Given the description of an element on the screen output the (x, y) to click on. 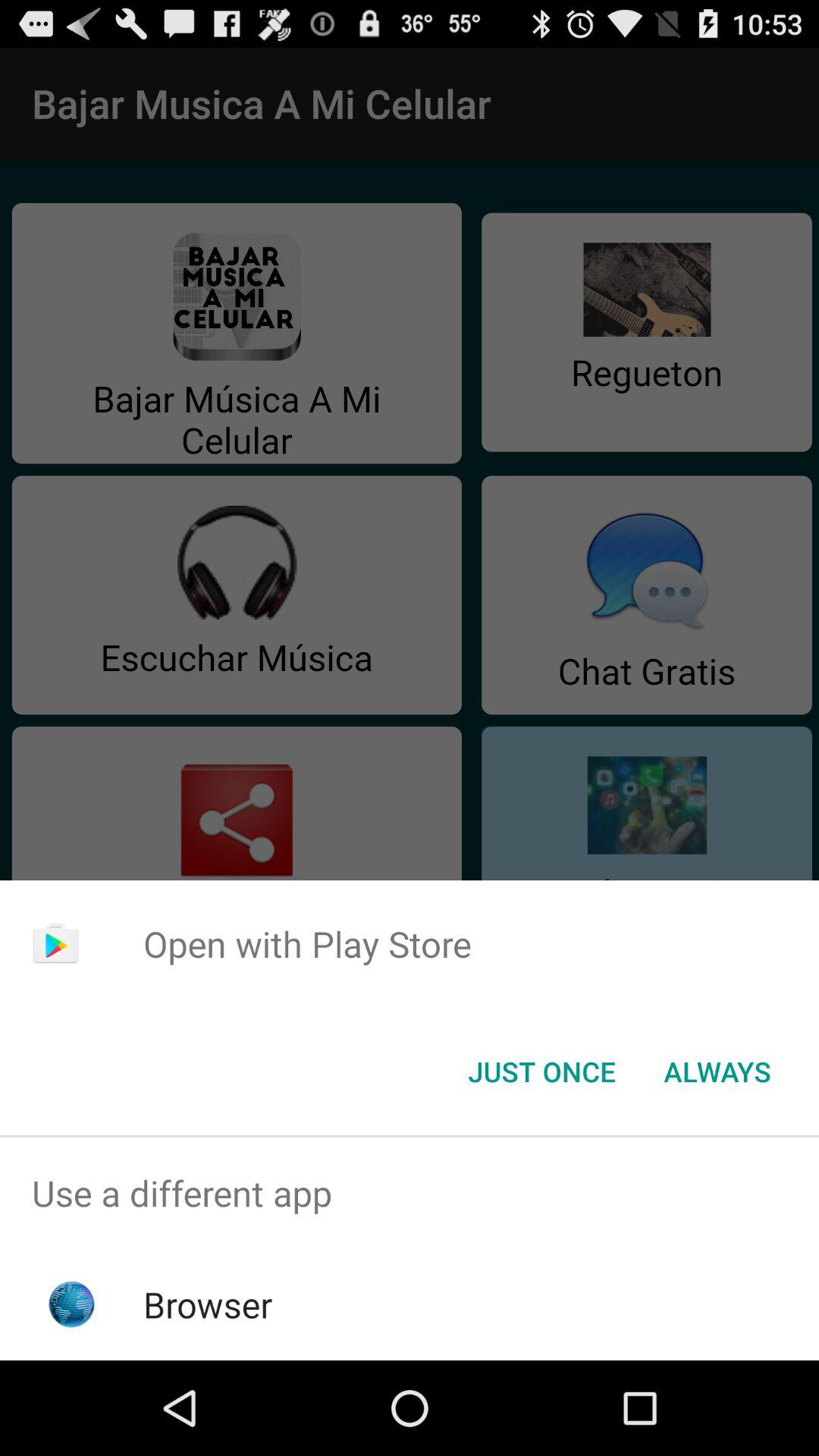
tap always item (717, 1071)
